Given the description of an element on the screen output the (x, y) to click on. 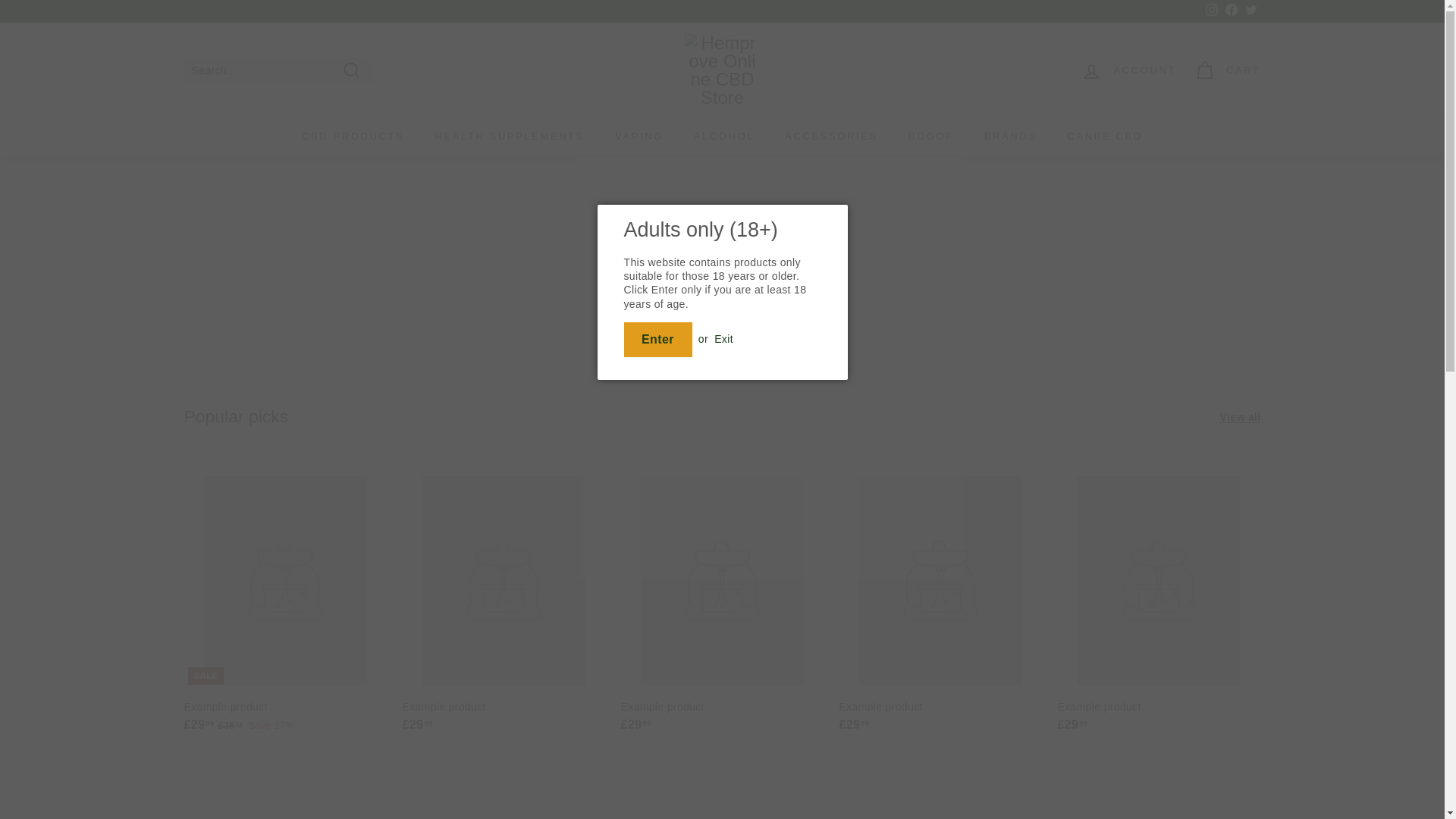
Instagram (1211, 11)
Hemprove UK on Twitter (1250, 11)
ACCOUNT (1128, 70)
Facebook (1230, 11)
CBD PRODUCTS (352, 136)
Twitter (1250, 11)
Enter (657, 339)
Hemprove UK on Facebook (1230, 11)
Exit (723, 338)
